Given the description of an element on the screen output the (x, y) to click on. 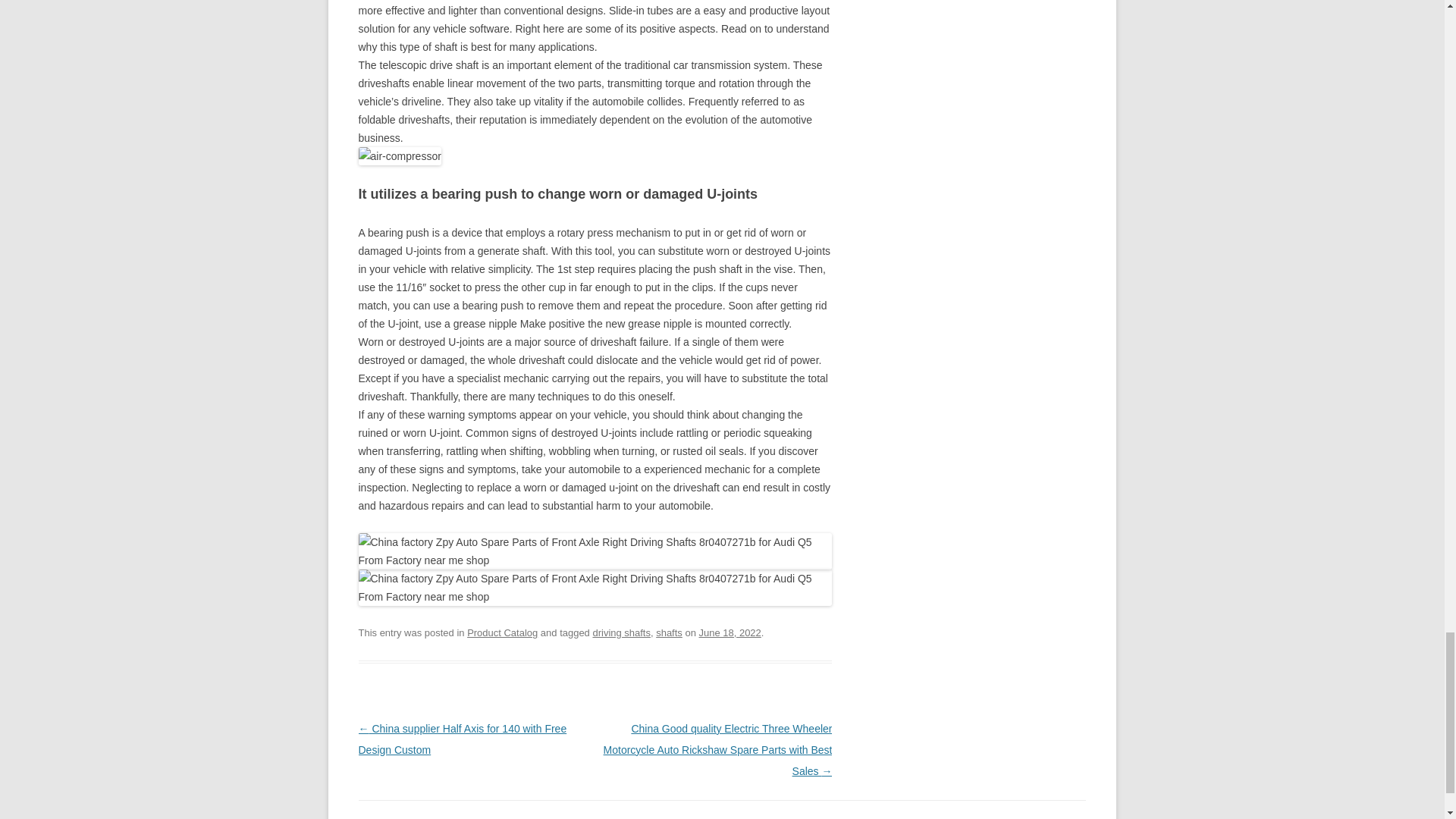
8:57 am (729, 632)
June 18, 2022 (729, 632)
shafts (669, 632)
driving shafts (621, 632)
Product Catalog (502, 632)
